Given the description of an element on the screen output the (x, y) to click on. 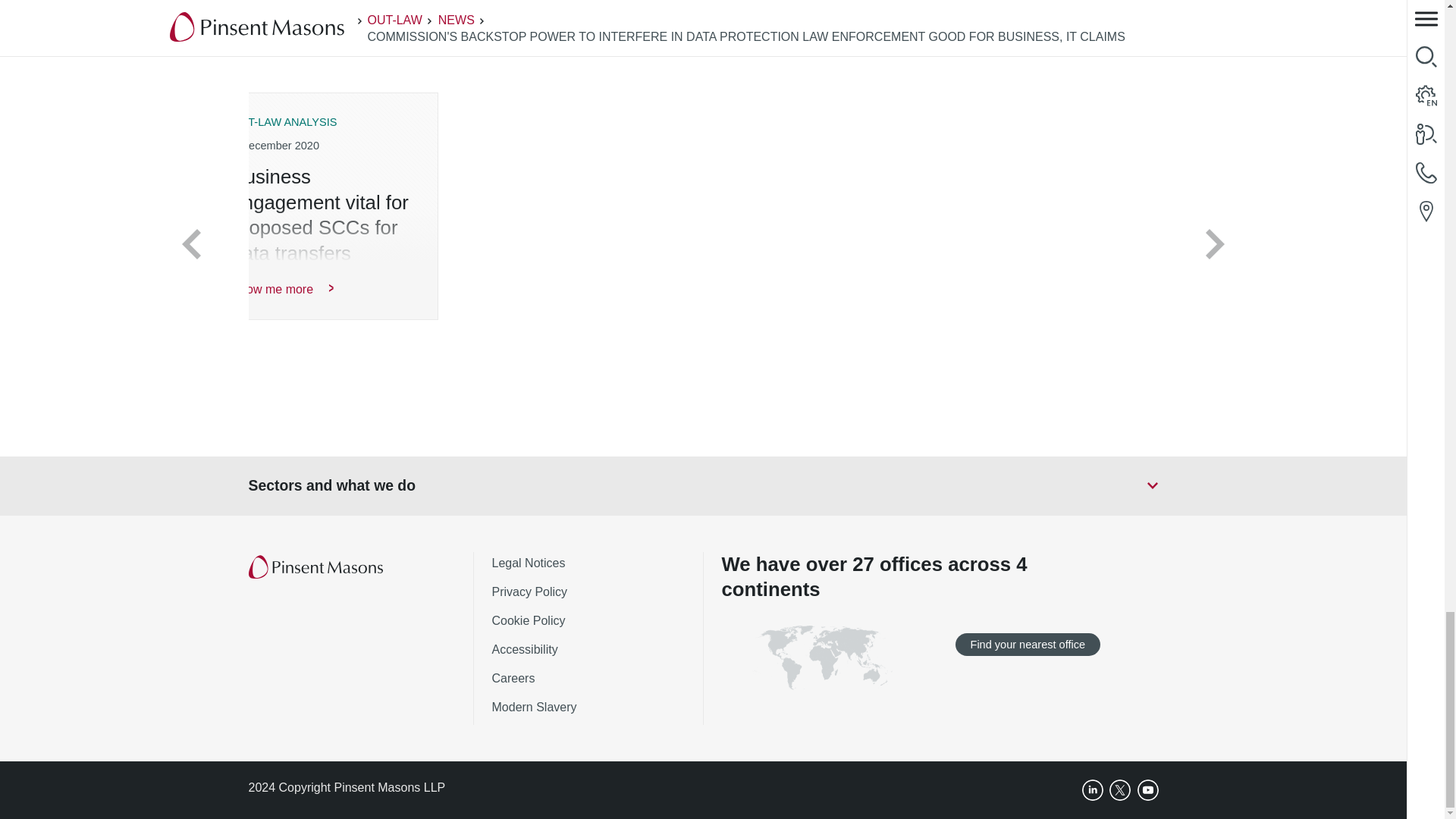
Pinsent Masons Twitter (1120, 789)
Pinsent Masons (316, 567)
Pinsent Masons LinkedIn (1092, 789)
